Given the description of an element on the screen output the (x, y) to click on. 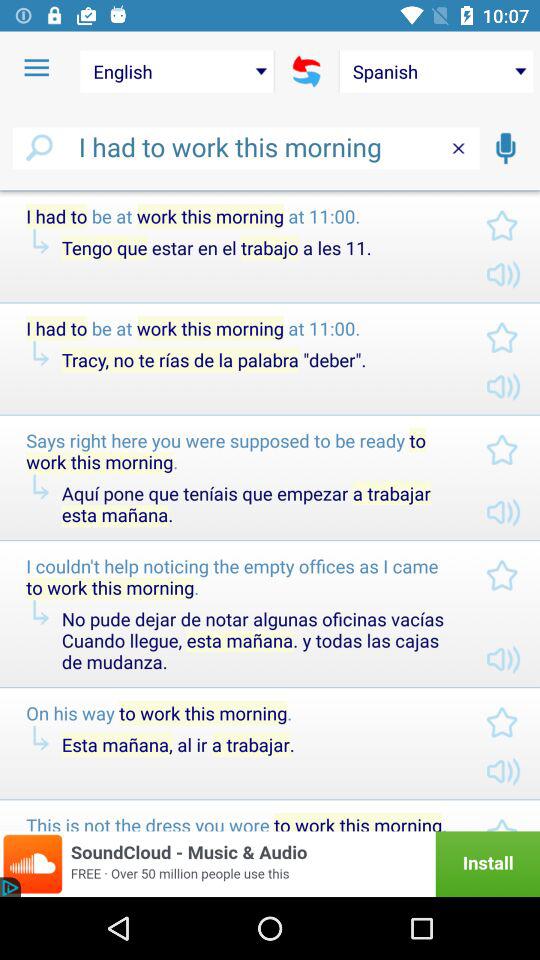
swipe to the this is not item (239, 822)
